Given the description of an element on the screen output the (x, y) to click on. 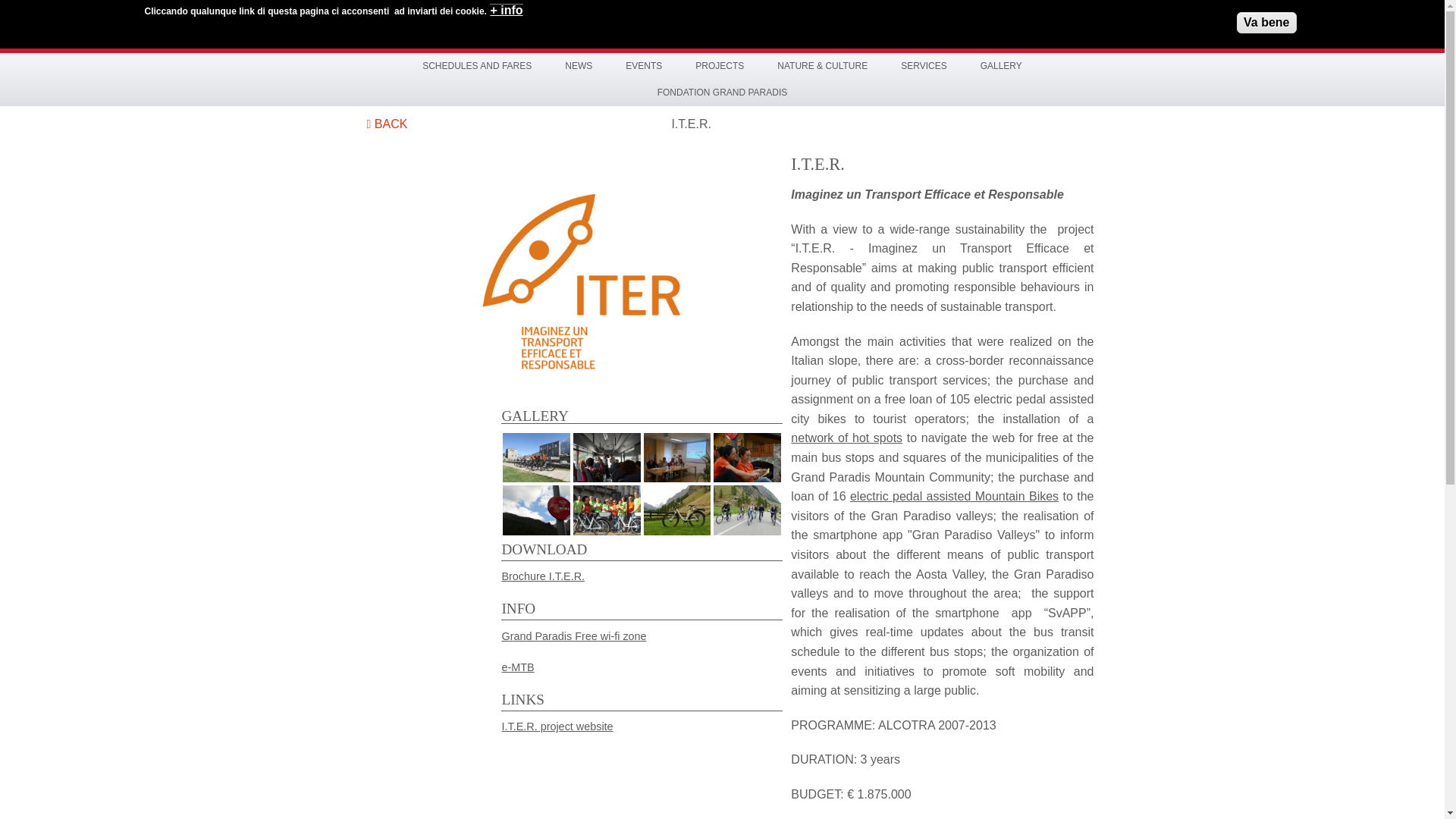
Search (61, 12)
Return to the www.grand-paradis.it home page (434, 24)
NEWS (578, 65)
Scopri un Paradiso di Natura e Cultura (804, 26)
Va bene (1265, 22)
SCHEDULES AND FARES (477, 65)
Enter the terms you wish to search for. (1031, 23)
